Given the description of an element on the screen output the (x, y) to click on. 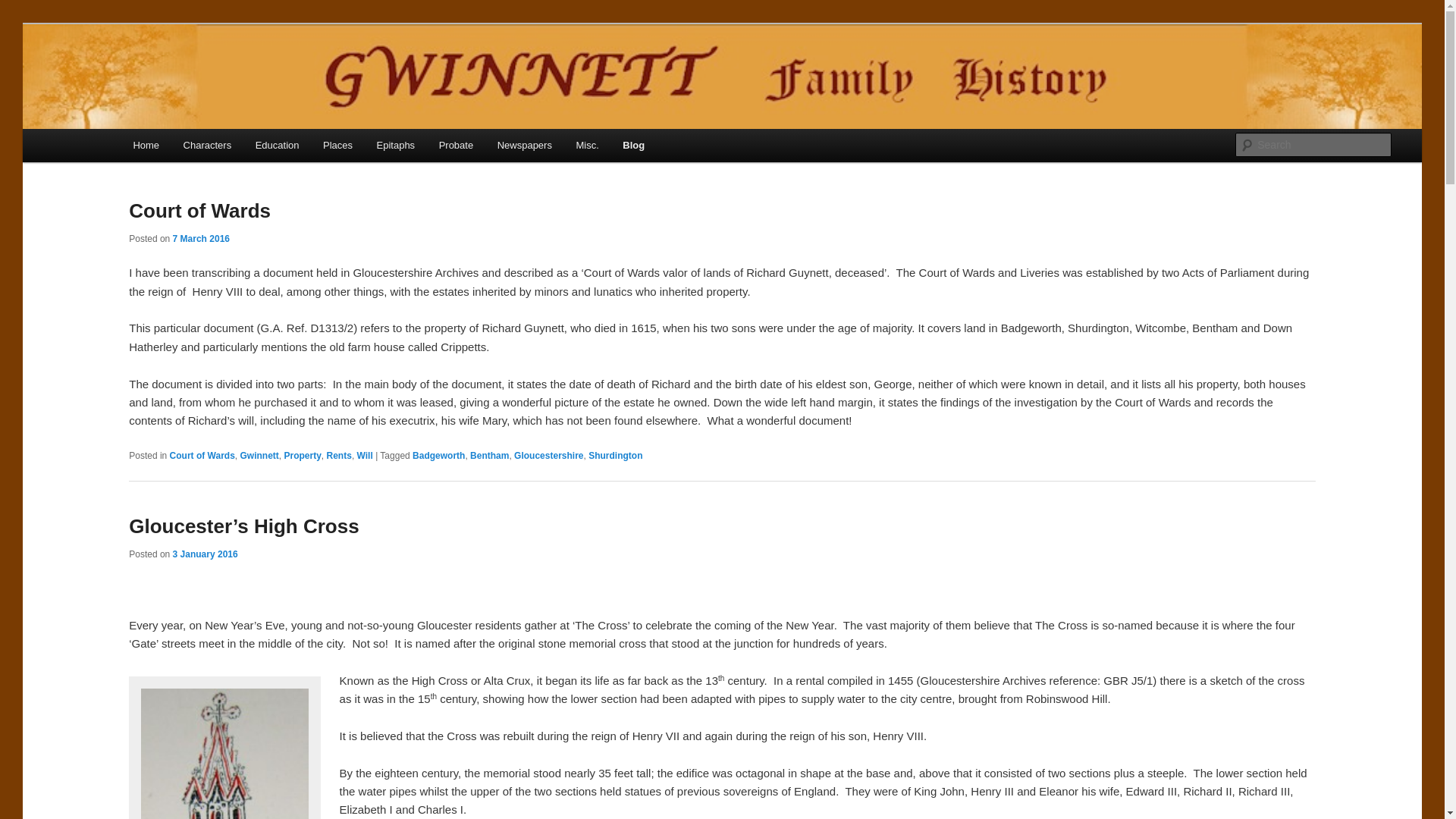
Probate (455, 144)
Education (277, 144)
Home (145, 144)
Home (145, 144)
Gwinnett Family History (258, 78)
Characters (207, 144)
Search (24, 8)
Epitaphs (395, 144)
Places (338, 144)
